Given the description of an element on the screen output the (x, y) to click on. 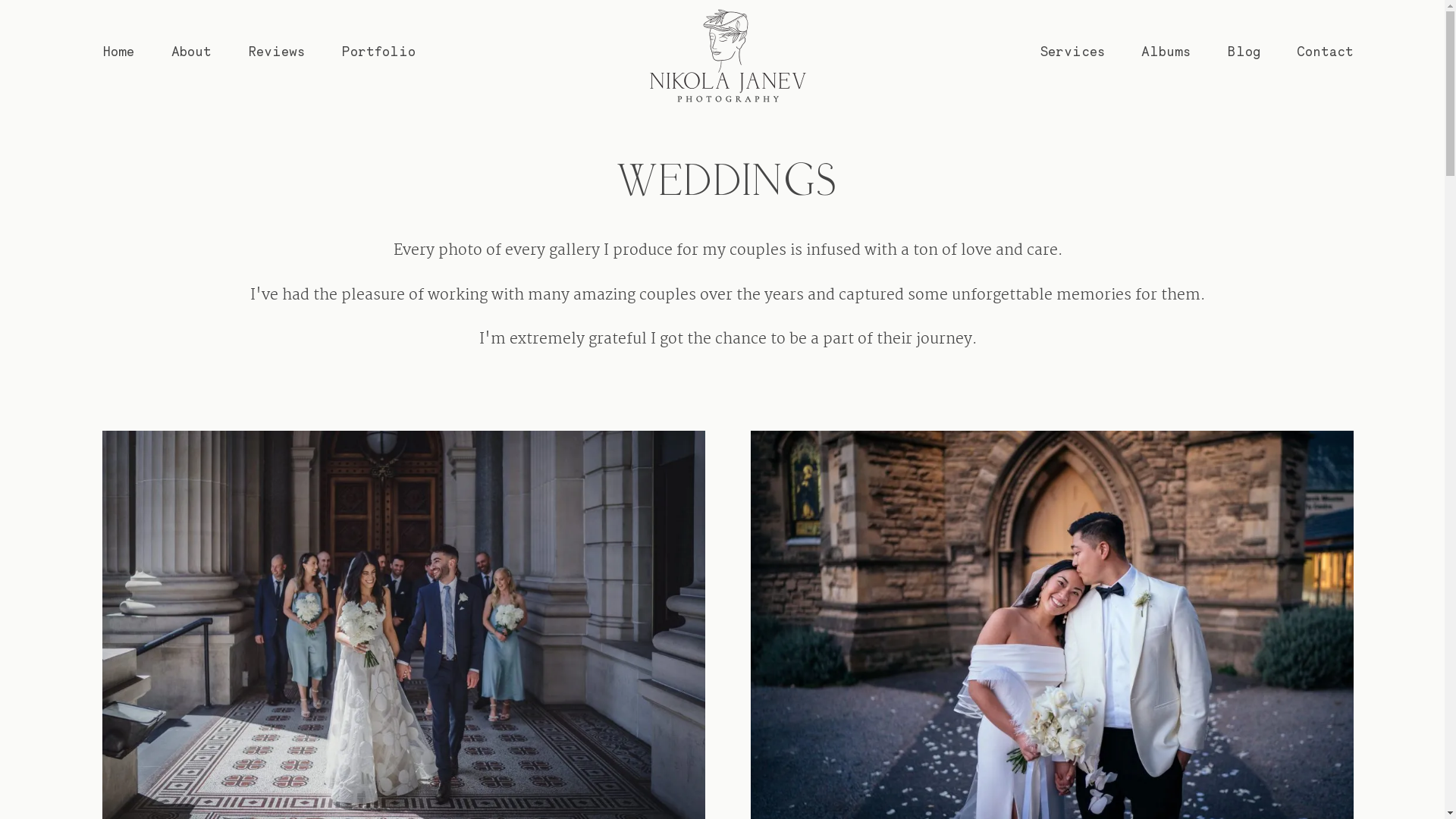
Portfolio Element type: text (378, 51)
Reviews Element type: text (276, 51)
Albums Element type: text (1166, 51)
About Element type: text (191, 51)
Home Element type: text (118, 51)
Contact Element type: text (1324, 51)
Services Element type: text (1072, 51)
Blog Element type: text (1244, 51)
